Given the description of an element on the screen output the (x, y) to click on. 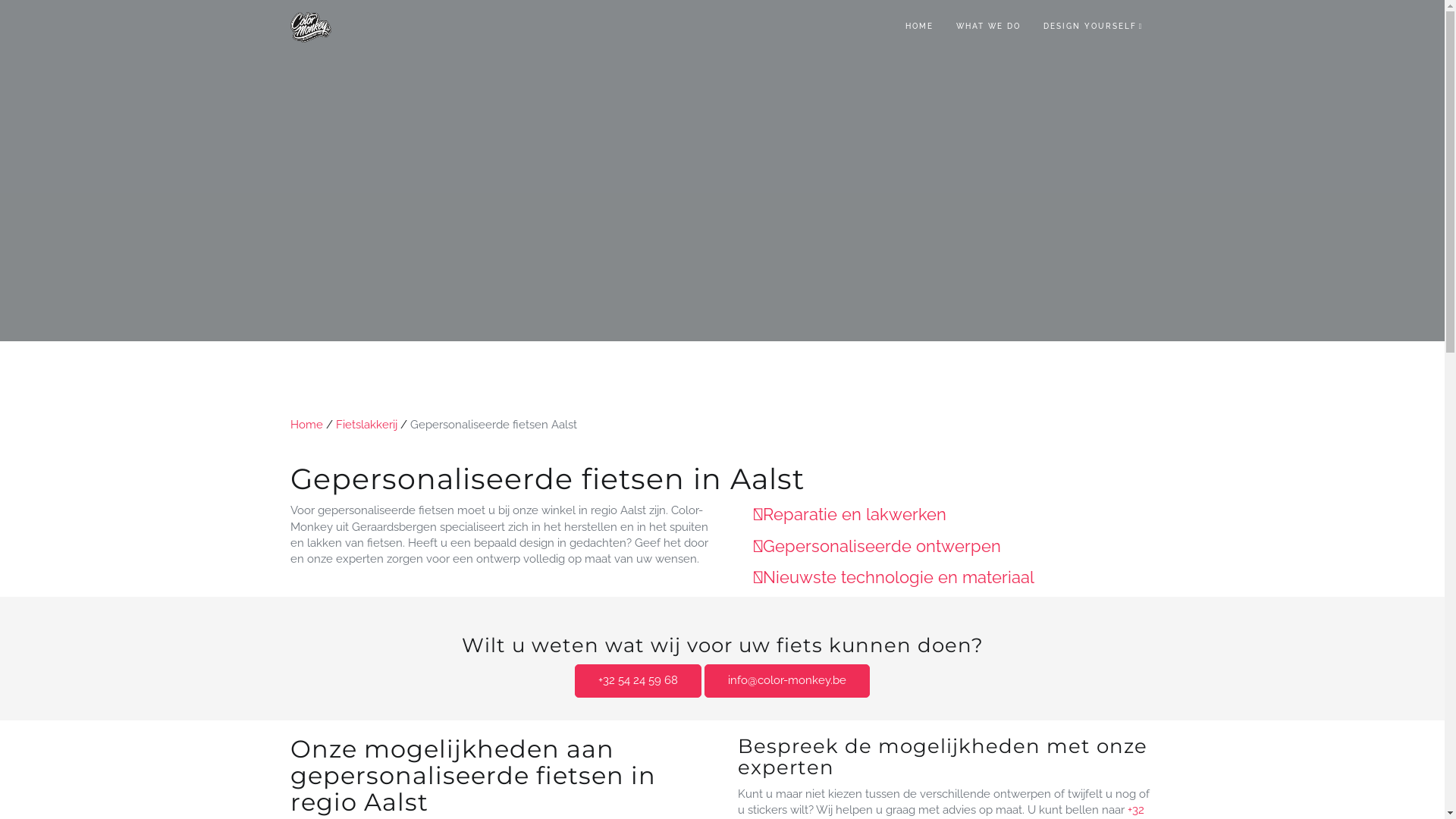
HOME Element type: text (919, 26)
+32 54 24 59 68 Element type: text (637, 680)
Gepersonaliseerde fietsen Aalst Element type: text (492, 424)
DESIGN YOURSELF Element type: text (1093, 26)
Fietslakkerij Element type: text (365, 424)
WHAT WE DO Element type: text (988, 26)
Home Element type: text (305, 424)
info@color-monkey.be Element type: text (786, 680)
